Given the description of an element on the screen output the (x, y) to click on. 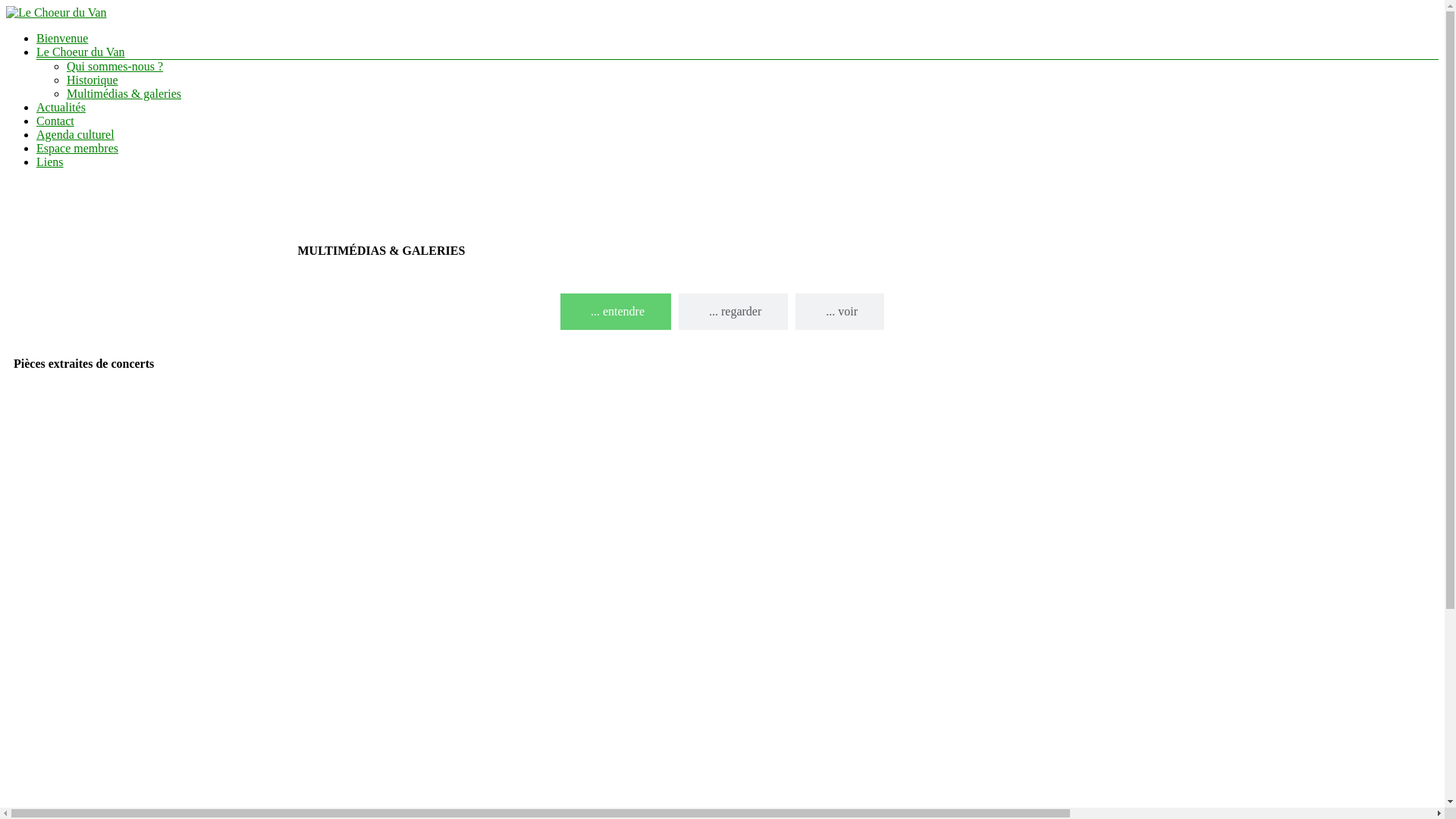
... entendre Element type: text (615, 311)
Le Choeur du Van Element type: text (80, 51)
Bienvenue Element type: text (61, 37)
Historique Element type: text (92, 79)
Espace membres Element type: text (77, 147)
... voir Element type: text (839, 311)
Qui sommes-nous ? Element type: text (114, 65)
... regarder Element type: text (732, 311)
Agenda culturel Element type: text (75, 134)
Contact Element type: text (55, 120)
Liens Element type: text (49, 161)
